Given the description of an element on the screen output the (x, y) to click on. 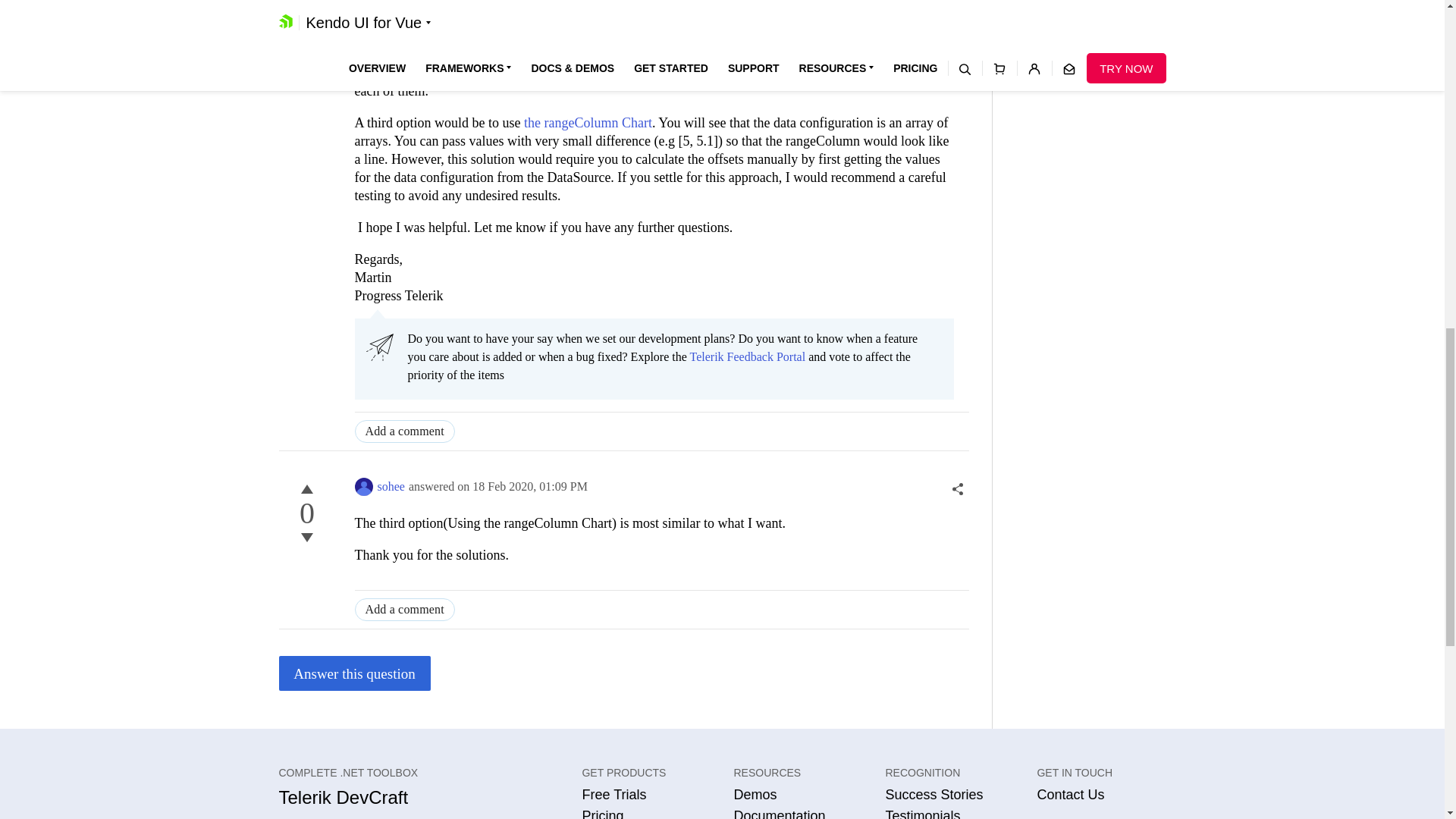
This answer is not helpful. (306, 537)
This answer is helpful. (306, 488)
This answer is not helpful. (306, 8)
